Given the description of an element on the screen output the (x, y) to click on. 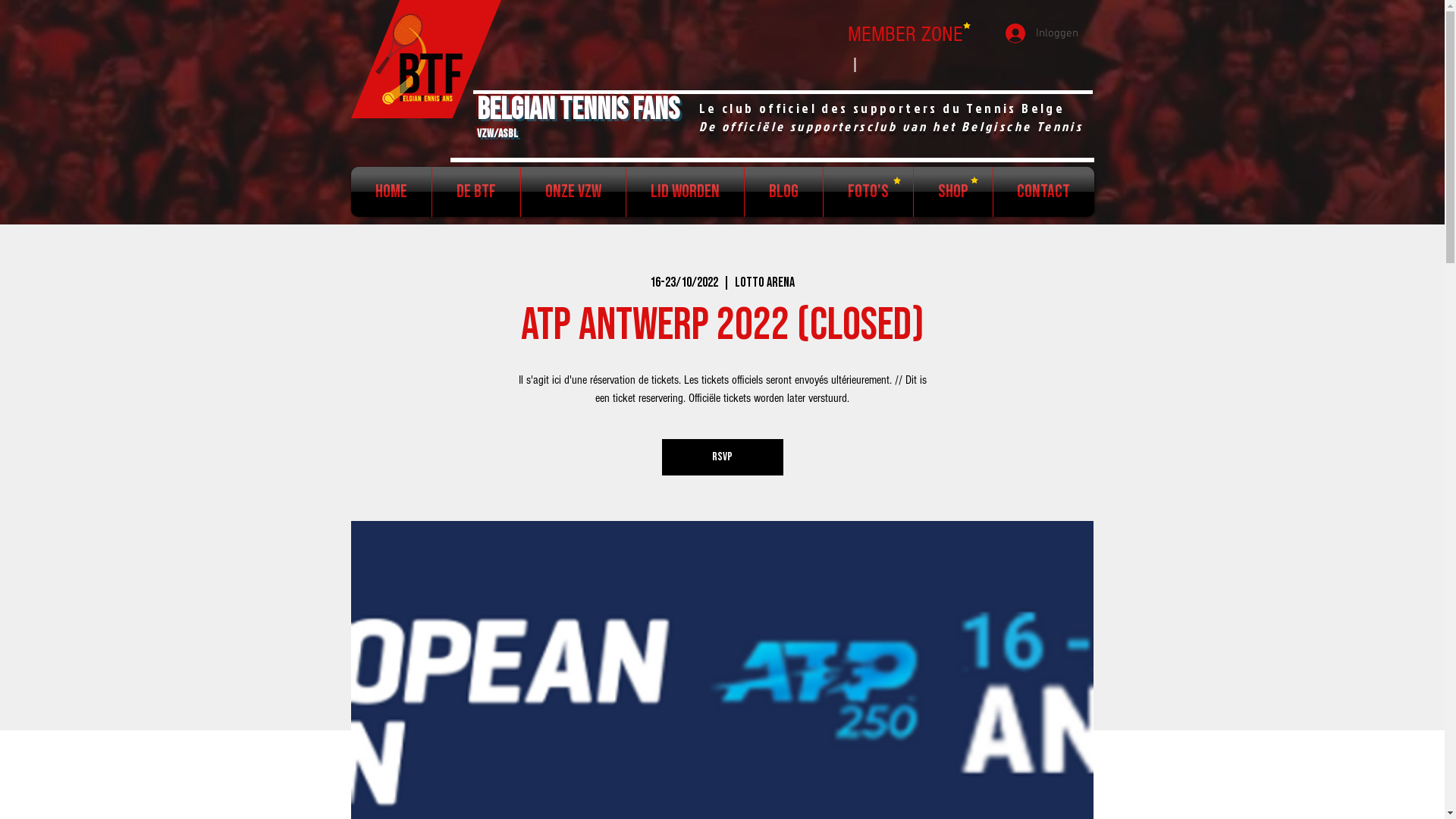
CONTACT Element type: text (1043, 191)
HOME Element type: text (390, 191)
RSVP Element type: text (721, 457)
Inloggen Element type: text (1041, 32)
BELGIAN TENNIS FANS Element type: text (577, 109)
btf-officiel-transparent.png Element type: hover (419, 59)
LID WORDEN Element type: text (684, 191)
FOTO'S Element type: text (868, 191)
DE BTF Element type: text (476, 191)
BLOG Element type: text (783, 191)
vzw/ASBL Element type: text (496, 127)
ONZE VZW Element type: text (572, 191)
SHOP Element type: text (952, 191)
